Given the description of an element on the screen output the (x, y) to click on. 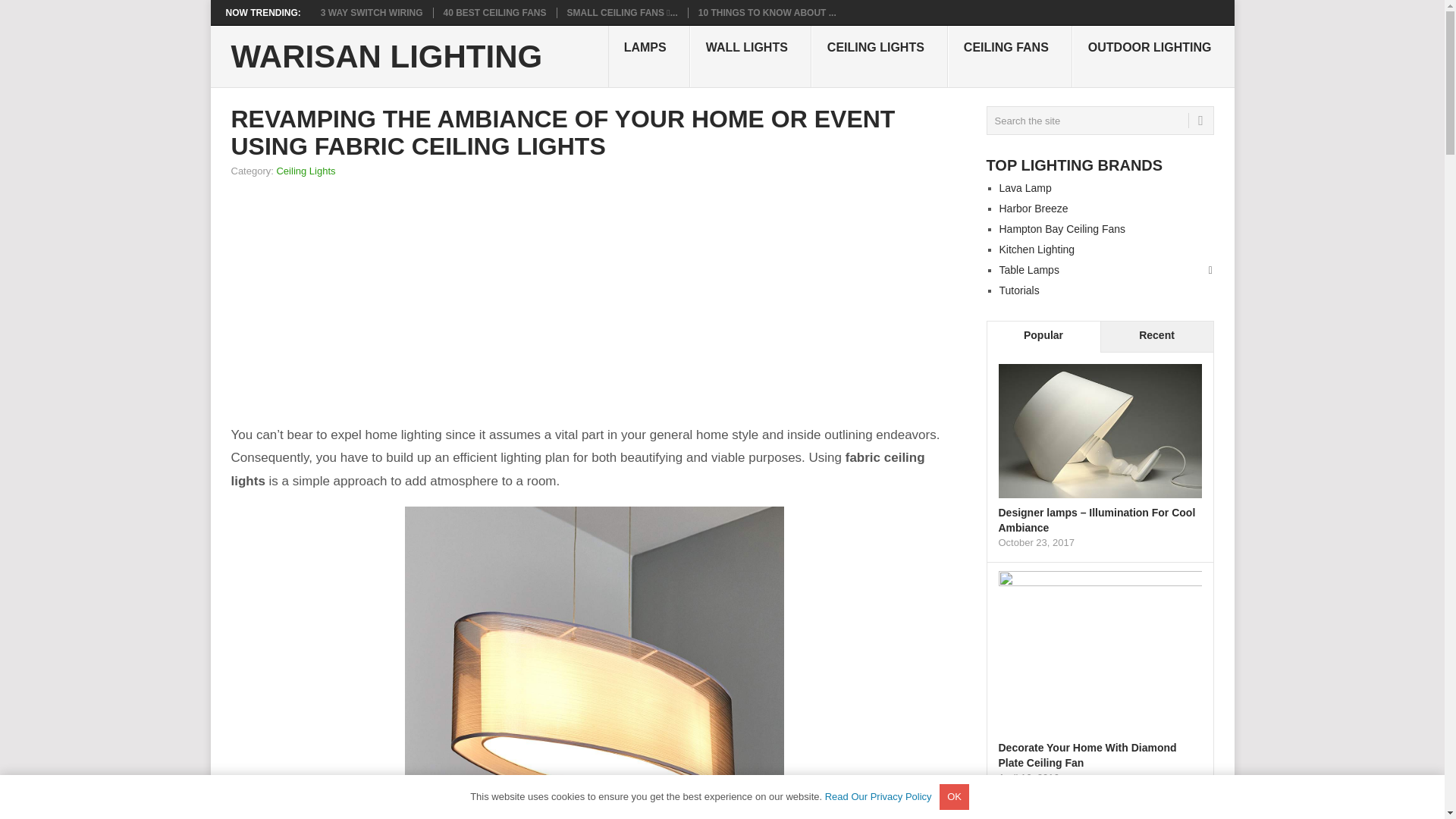
10 things to know about Outdoor Gazebo Lights (766, 12)
Popular (1043, 336)
Hampton Bay Ceiling Fans (1061, 228)
Recent (1155, 336)
CEILING LIGHTS (878, 56)
40 BEST CEILING FANS (495, 12)
Decorate Your Home With Diamond Plate Ceiling Fan (1086, 755)
WARISAN LIGHTING (385, 56)
CEILING FANS (1009, 56)
40 Best Ceiling Fans (495, 12)
